Given the description of an element on the screen output the (x, y) to click on. 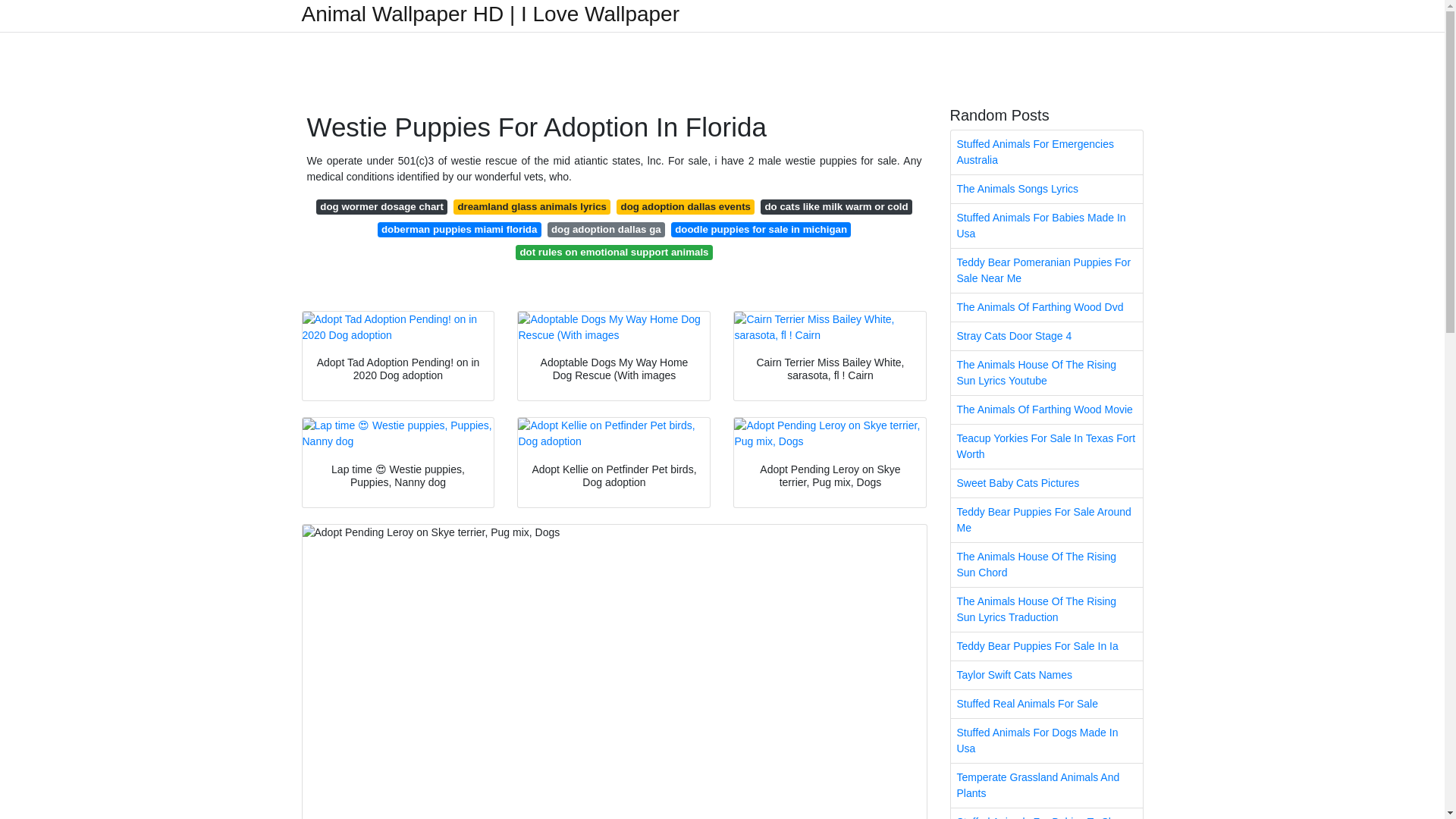
do cats like milk warm or cold (836, 206)
dog wormer dosage chart (380, 206)
Stray Cats Door Stage 4 (1046, 336)
Teacup Yorkies For Sale In Texas Fort Worth (1046, 446)
The Animals Of Farthing Wood Movie (1046, 409)
Stuffed Animals For Babies Made In Usa (1046, 225)
Teddy Bear Pomeranian Puppies For Sale Near Me (1046, 270)
dog adoption dallas ga (606, 229)
dreamland glass animals lyrics (531, 206)
doberman puppies miami florida (459, 229)
